Given the description of an element on the screen output the (x, y) to click on. 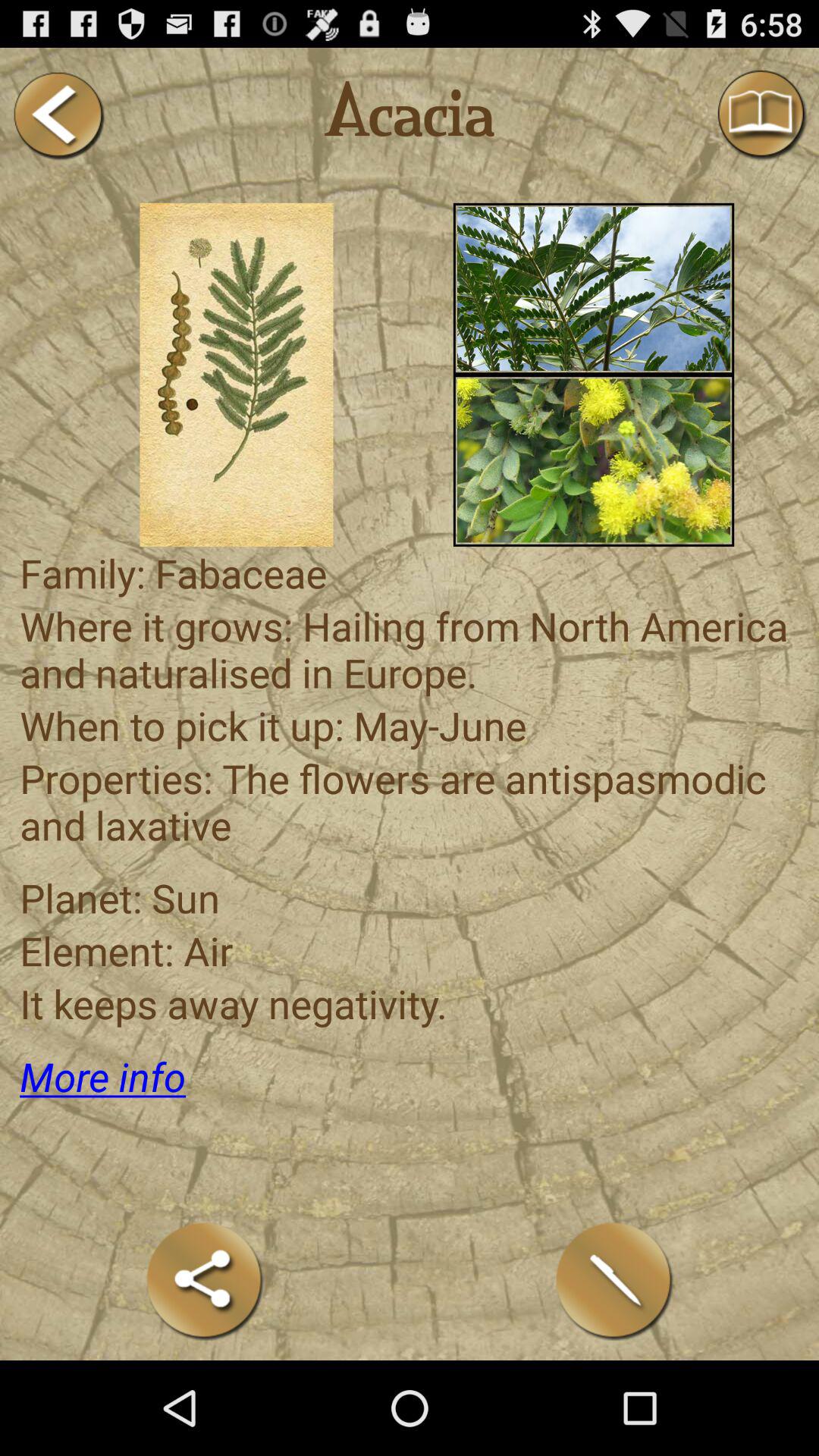
click to the share options (204, 1280)
